Given the description of an element on the screen output the (x, y) to click on. 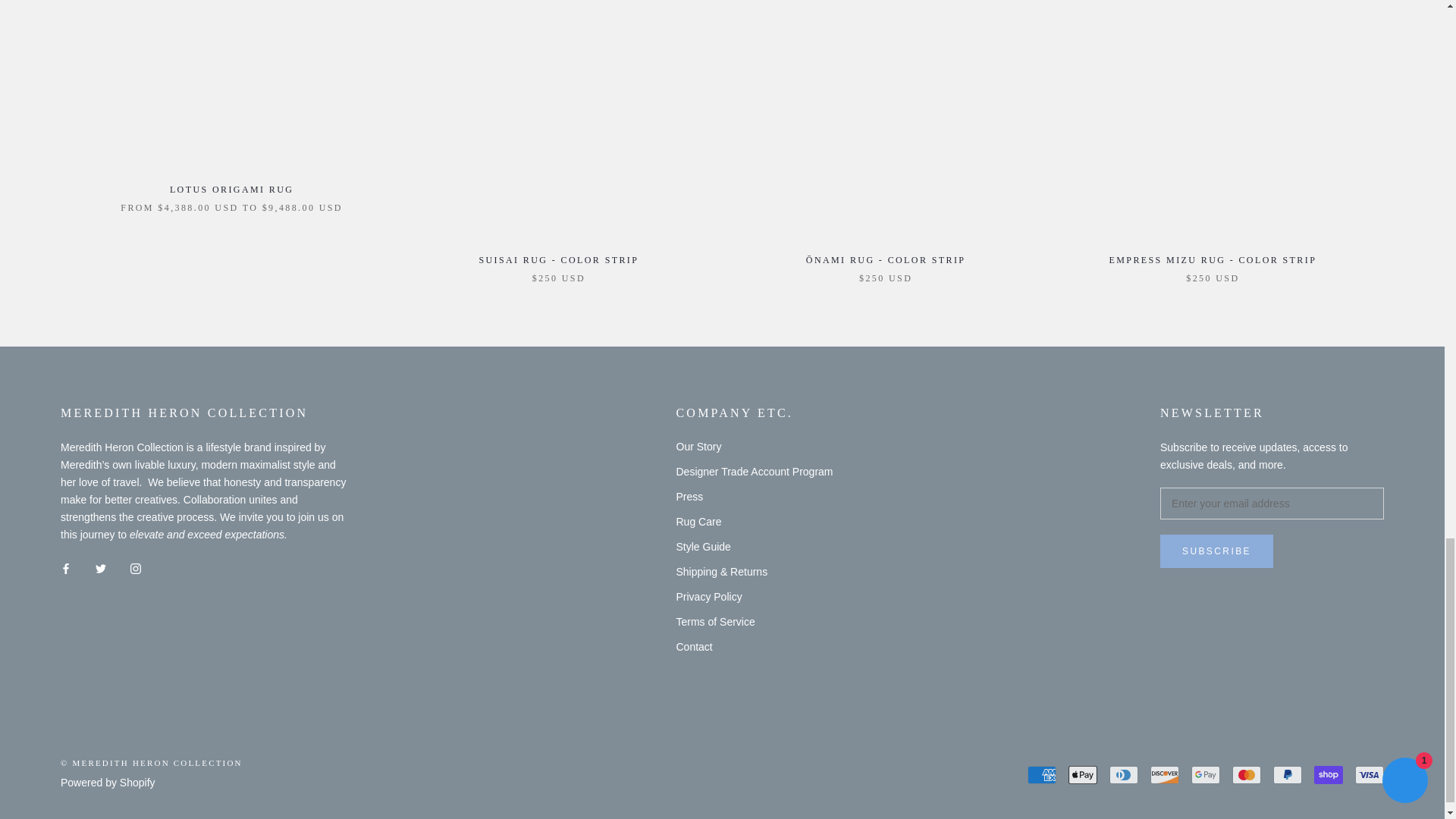
PayPal (1286, 774)
Discover (1164, 774)
Google Pay (1205, 774)
Mastercard (1245, 774)
American Express (1042, 774)
Visa (1369, 774)
Apple Pay (1082, 774)
Diners Club (1123, 774)
Shop Pay (1328, 774)
